Given the description of an element on the screen output the (x, y) to click on. 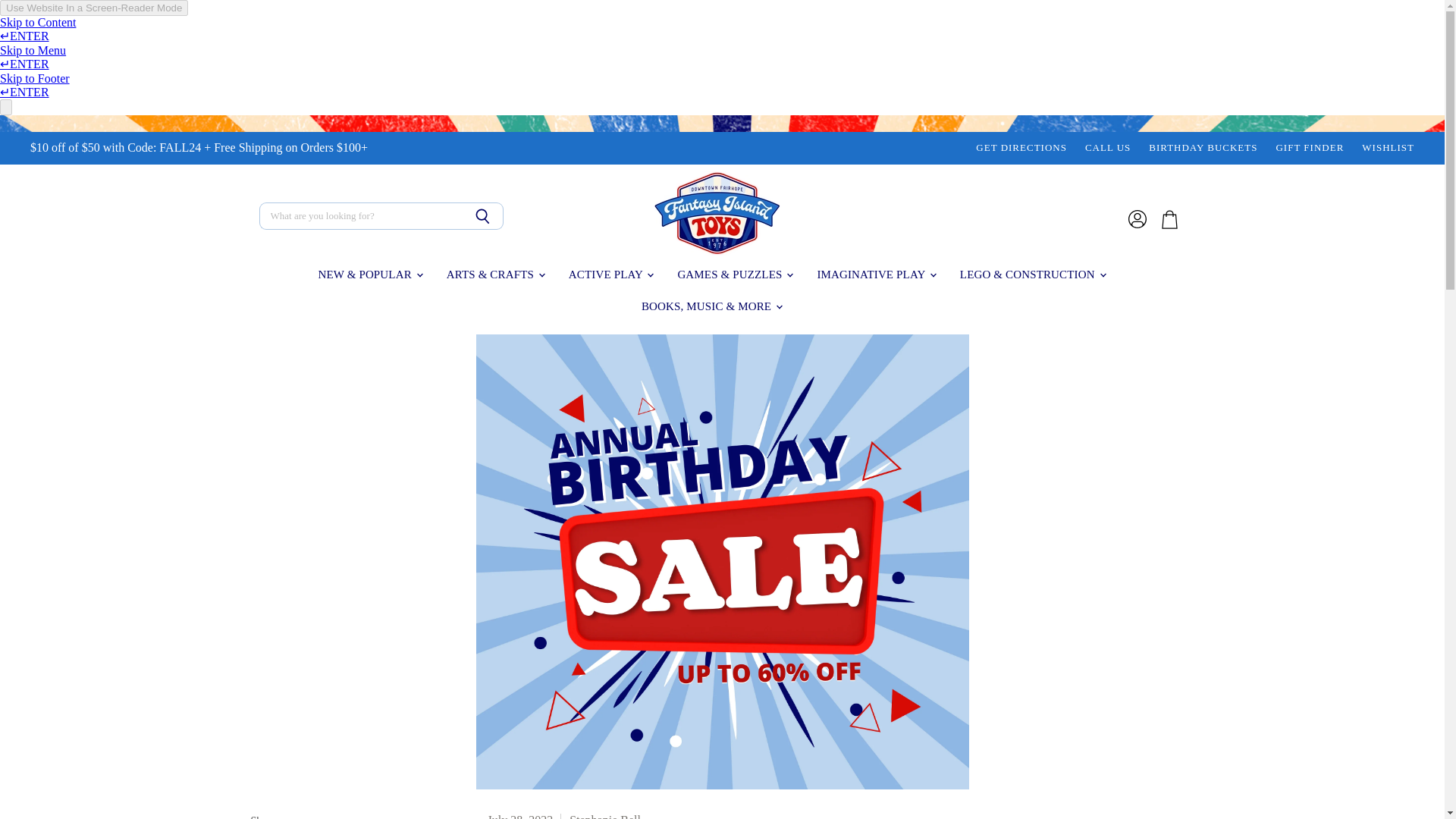
BIRTHDAY BUCKETS (1202, 147)
GIFT FINDER (1309, 147)
WISHLIST (1387, 147)
View account (1137, 219)
CALL US (1107, 147)
GET DIRECTIONS (1021, 147)
View cart (1169, 219)
